Given the description of an element on the screen output the (x, y) to click on. 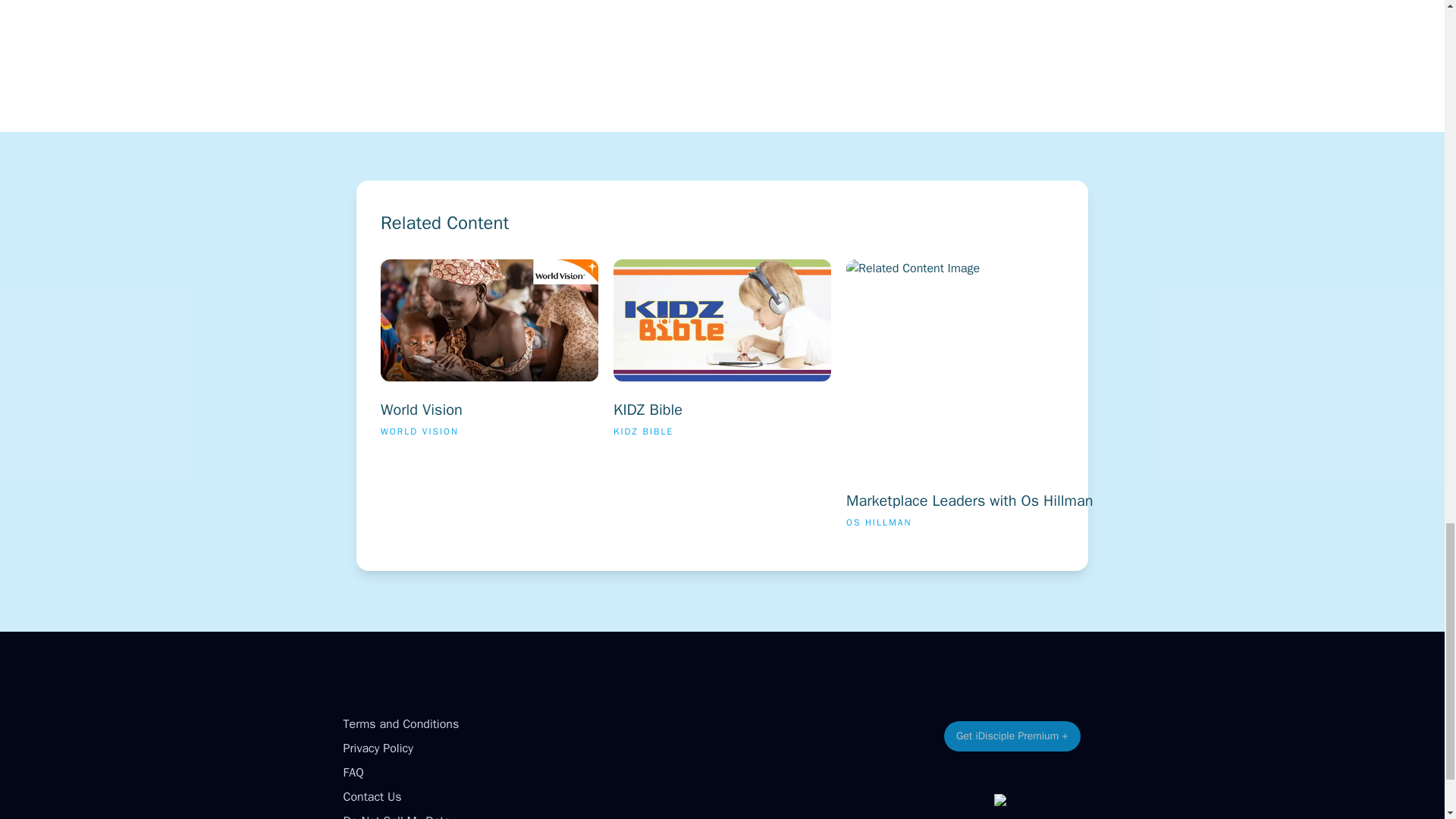
Privacy Policy (377, 748)
FAQ (352, 772)
Do Not Sell My Data (395, 816)
Contact Us (1035, 399)
Terms and Conditions (371, 796)
